Given the description of an element on the screen output the (x, y) to click on. 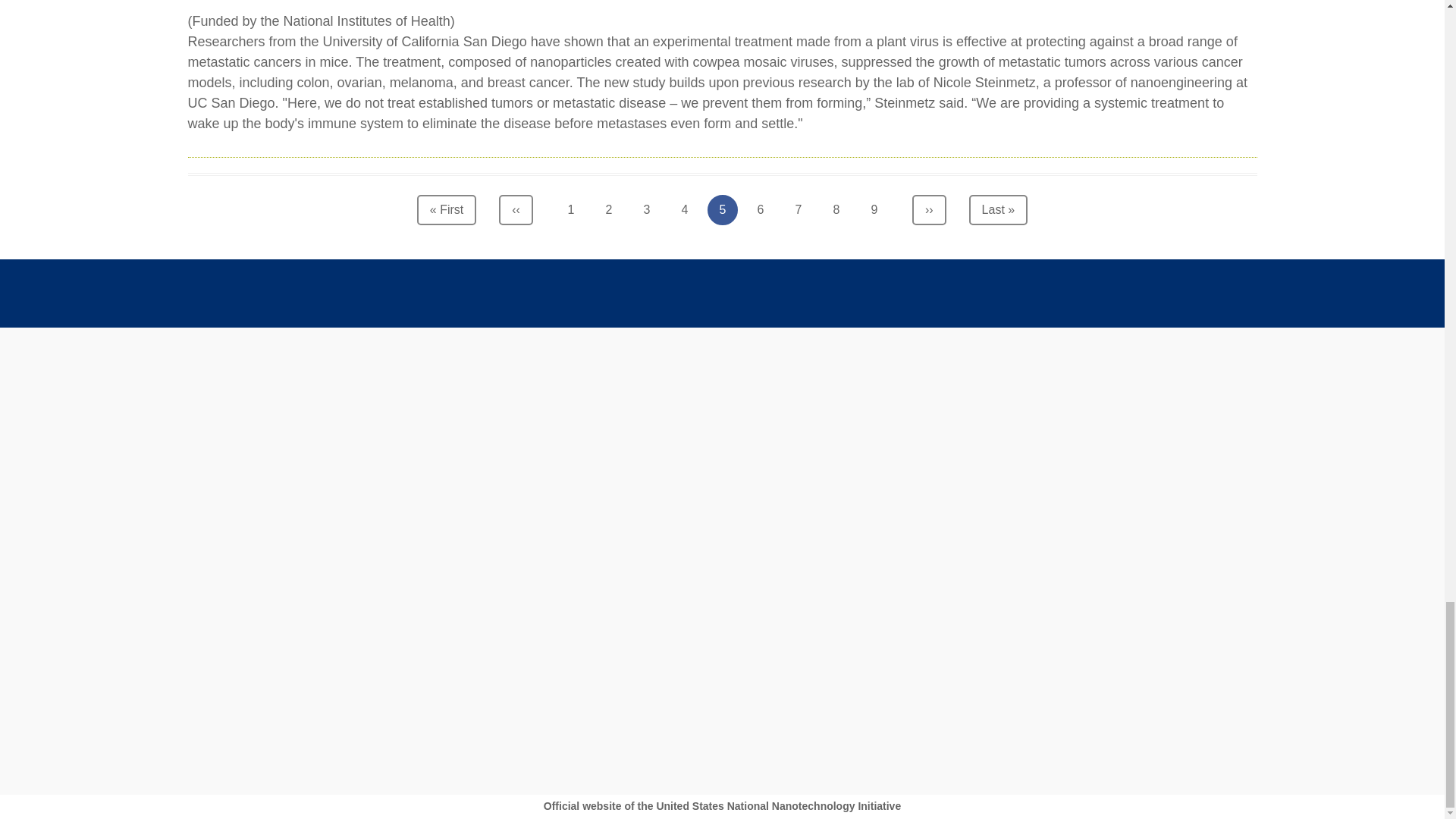
Go to next page (646, 209)
Go to page 2 (798, 209)
Go to page 7 (929, 209)
Go to page 6 (684, 209)
Go to first page (609, 209)
Go to page 1 (722, 209)
Go to last page (798, 209)
Go to page 4 (760, 209)
Go to page 9 (446, 209)
